Given the description of an element on the screen output the (x, y) to click on. 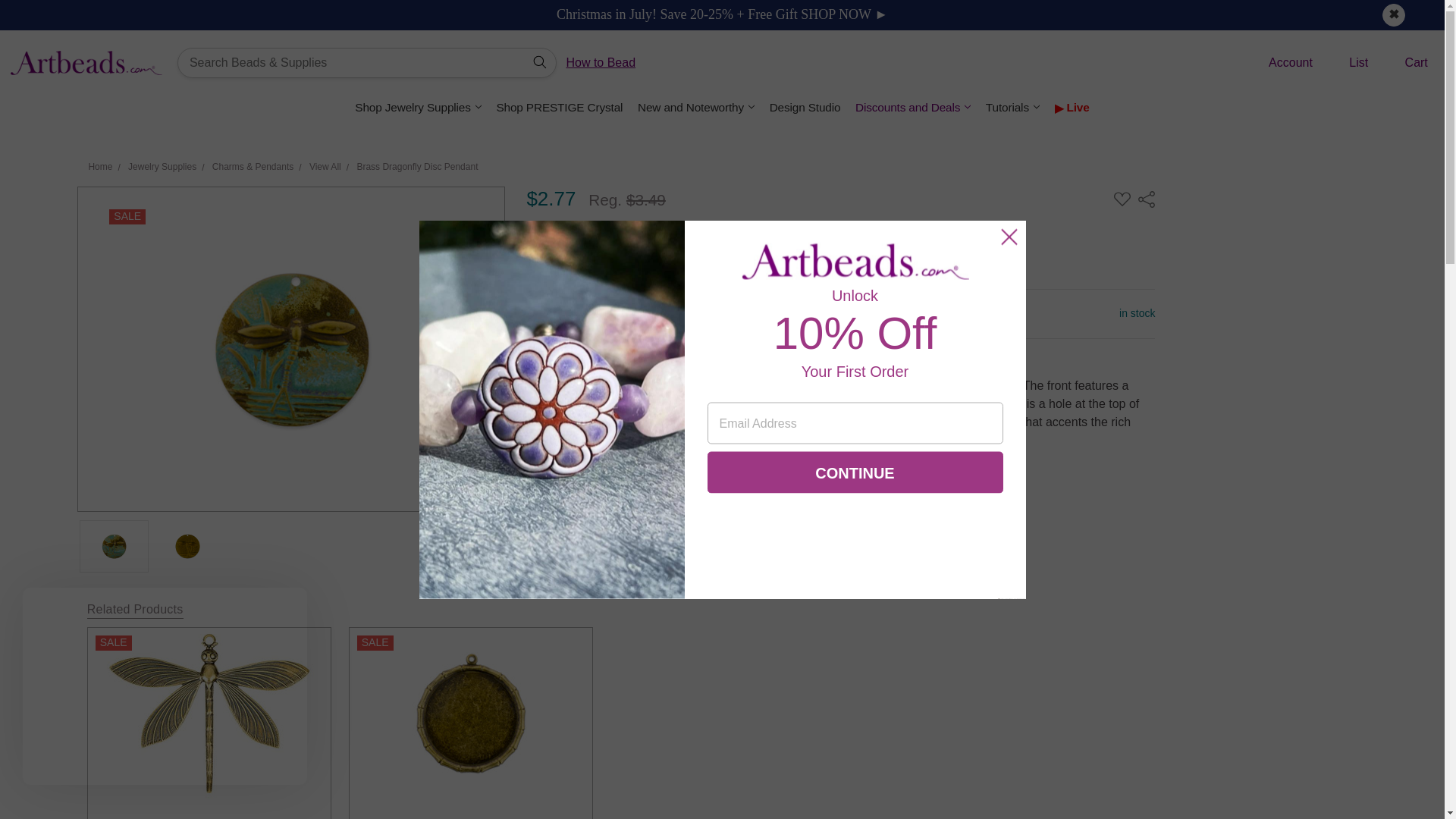
New and Noteworthy (695, 107)
Add to Cart (751, 314)
How to Bead (600, 62)
Artbeads.com (85, 62)
List (1346, 62)
Brass Dragonfly Disc Pendant (114, 546)
Cart (1404, 62)
Brass Dragonfly Disc Pendant (187, 546)
Large Brass Dragonfly Pendant (209, 713)
Smile.io Rewards Program Prompt (165, 686)
1 (631, 313)
Shop PRESTIGE Crystal (559, 107)
Shop Jewelry Supplies (418, 107)
Brass Bamboo Disc Pendant (470, 713)
Smile.io Rewards Program Launcher (78, 761)
